Given the description of an element on the screen output the (x, y) to click on. 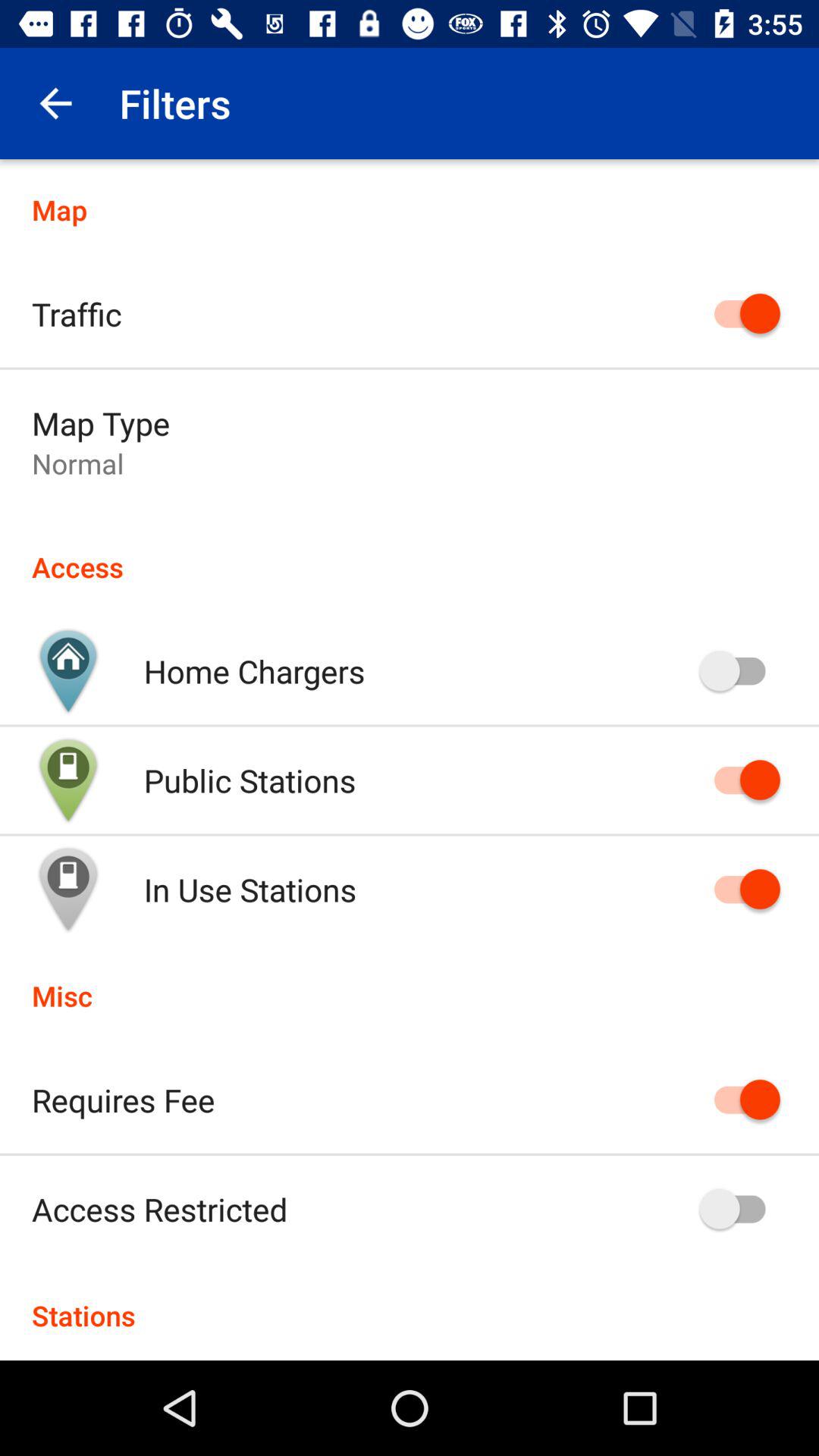
launch item next to the filters app (55, 103)
